Given the description of an element on the screen output the (x, y) to click on. 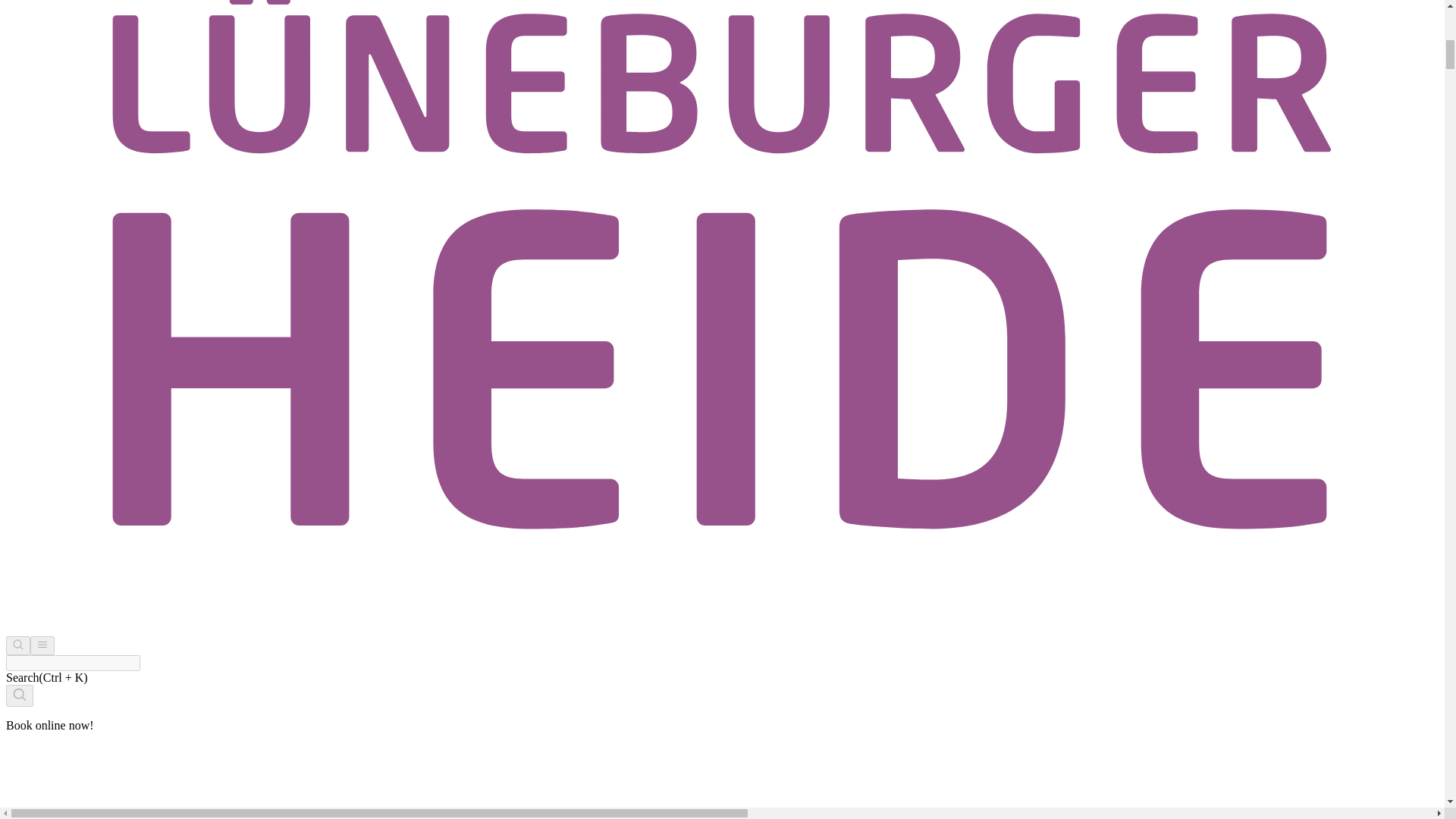
Toggle search (17, 645)
Toggle menu (42, 645)
